Given the description of an element on the screen output the (x, y) to click on. 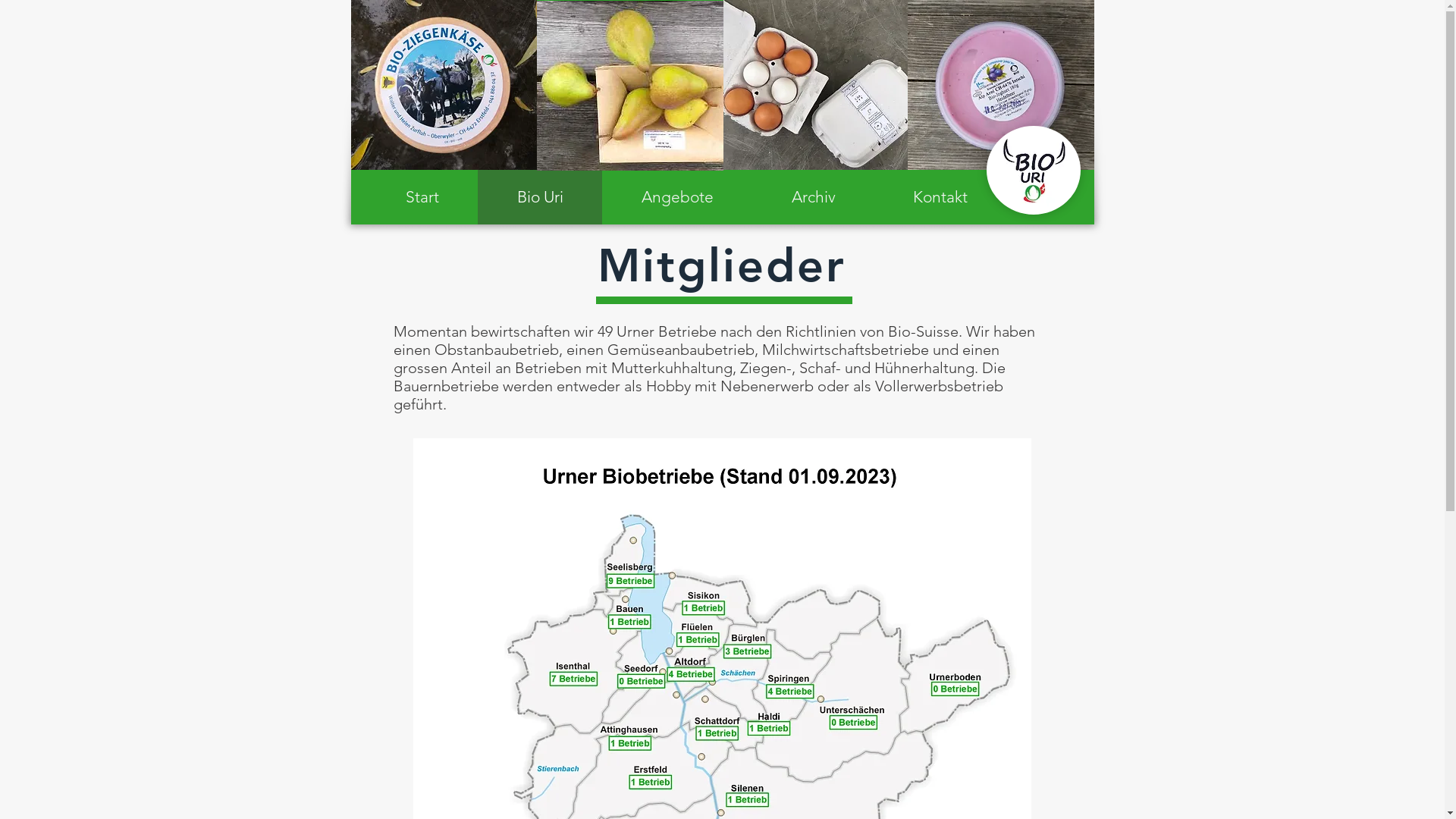
Angebote Element type: text (677, 196)
Bio Uri Element type: text (539, 196)
Start Element type: text (422, 196)
Kontakt Element type: text (939, 196)
Archiv Element type: text (813, 196)
